Given the description of an element on the screen output the (x, y) to click on. 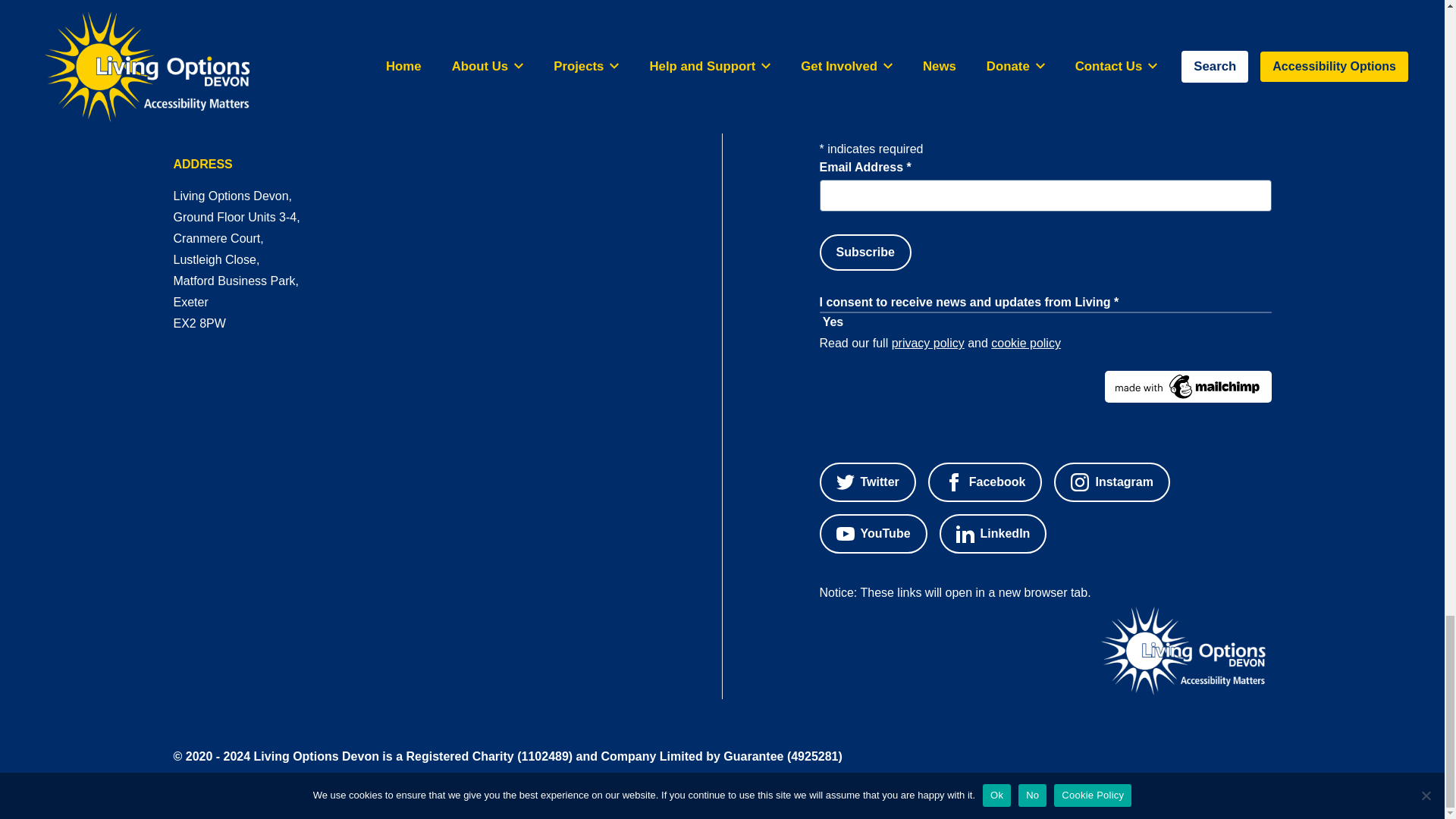
Subscribe (864, 252)
Mailchimp - email marketing made easy and fun (1044, 386)
